Given the description of an element on the screen output the (x, y) to click on. 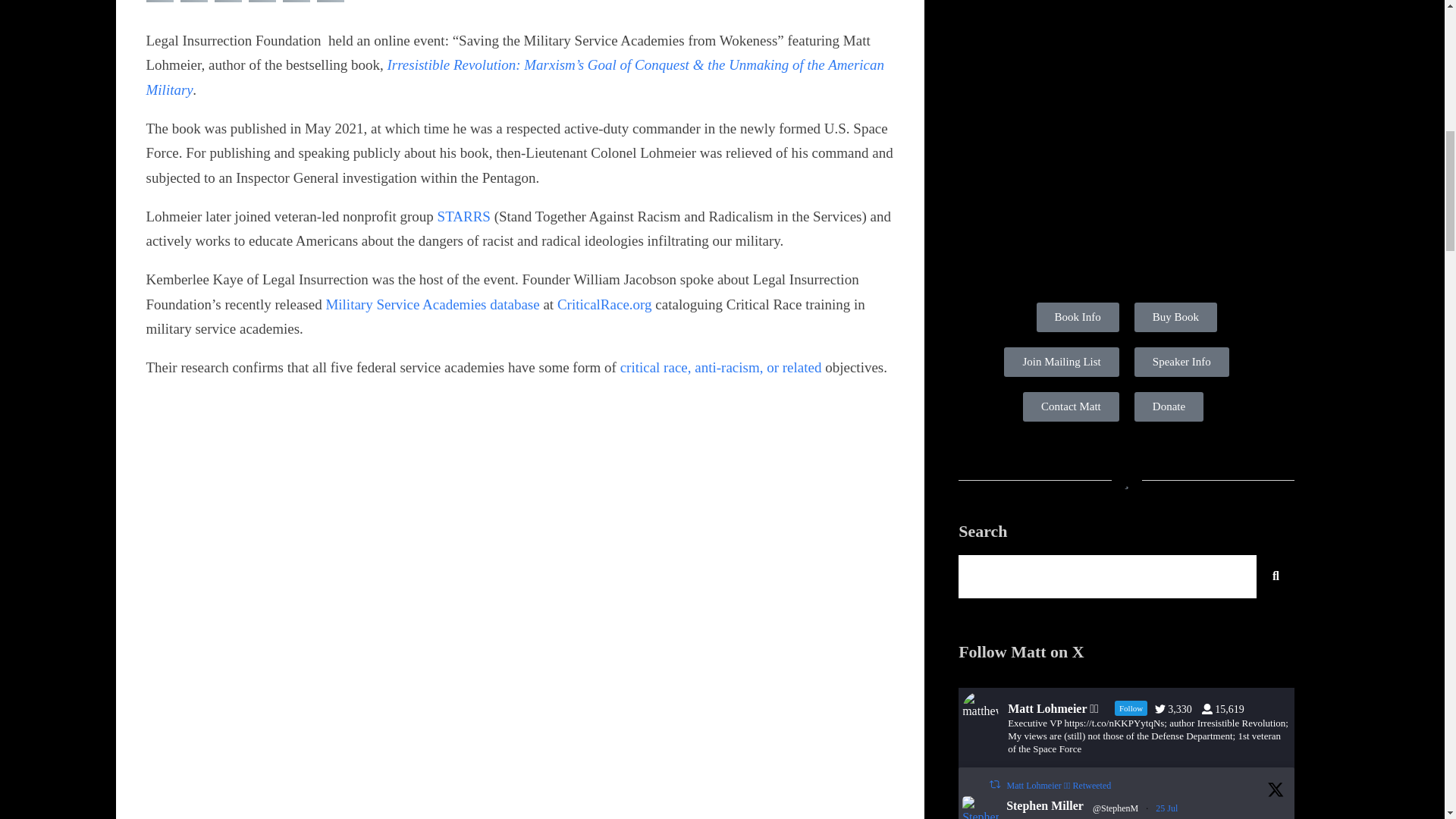
Retweet on Twitter (995, 784)
CriticalRace.org (604, 304)
Stephen Miller (1044, 805)
25 Jul 1816577247664541949 (1167, 808)
Join Mailing List (1061, 361)
Military Service Academies database (431, 304)
Speaker Info (1181, 361)
critical race, anti-racism, or related (721, 367)
STARRS (464, 216)
15,619 Followers (1227, 708)
Donate (1169, 406)
3,330 Tweets (1176, 708)
Book Info (1077, 317)
Contact Matt (1071, 406)
